Given the description of an element on the screen output the (x, y) to click on. 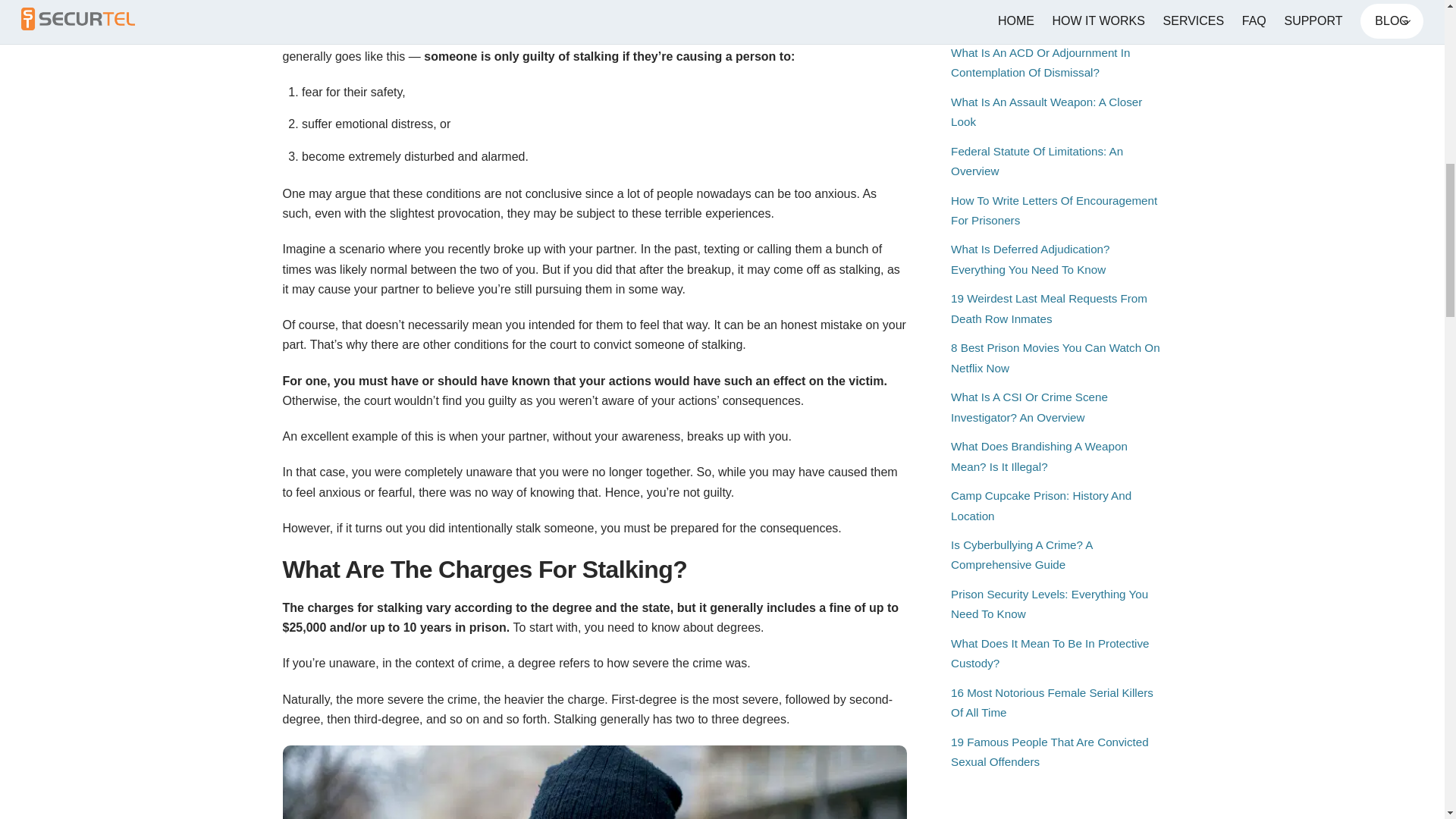
charges for stalking 2 (594, 782)
What Is An Assault Weapon: A Closer Look (1045, 111)
What Is An ACD Or Adjournment In Contemplation Of Dismissal? (1039, 61)
Federal Statute Of Limitations: An Overview (1036, 160)
